Given the description of an element on the screen output the (x, y) to click on. 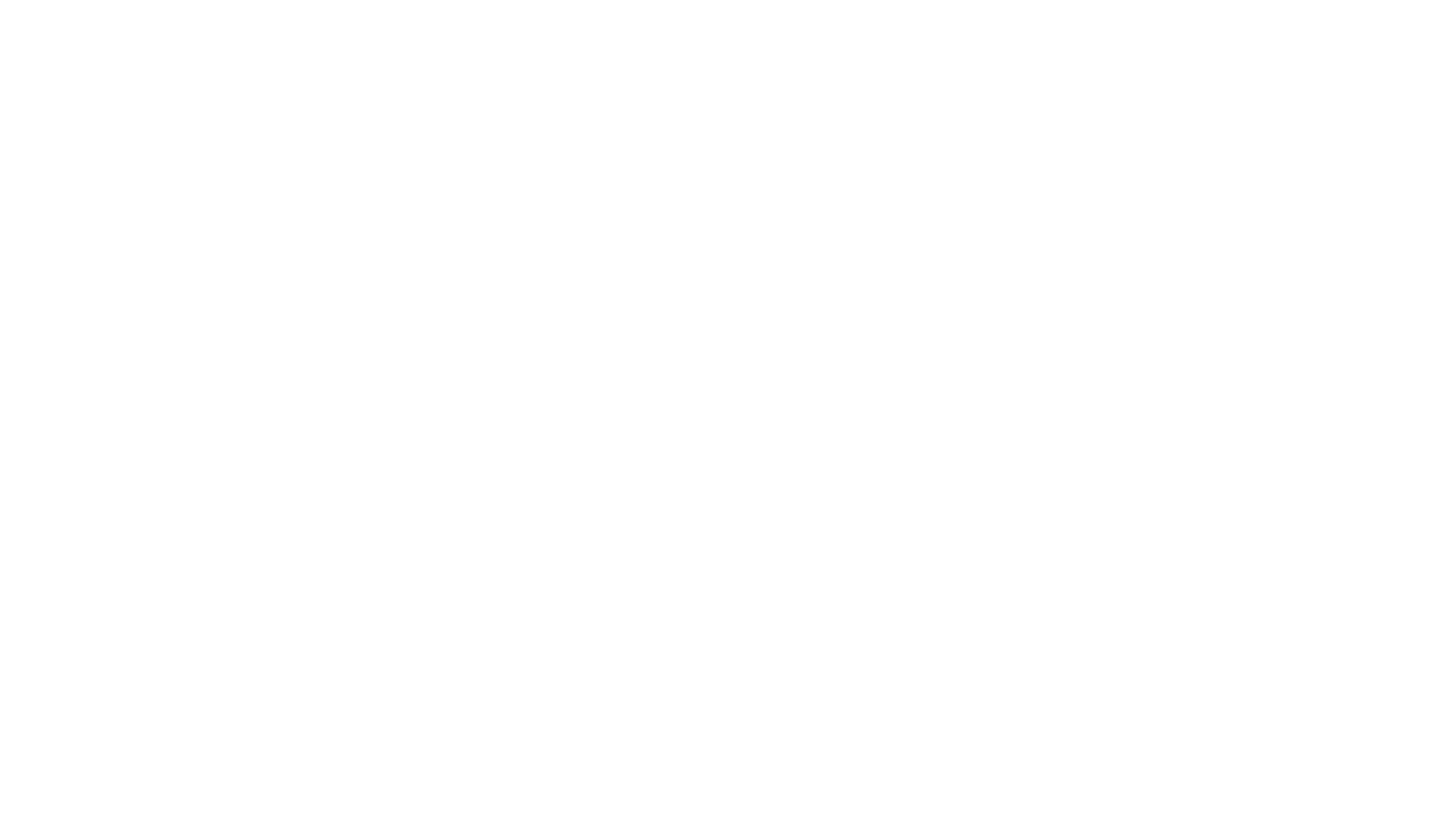
API Element type: text (8, 566)
